Given the description of an element on the screen output the (x, y) to click on. 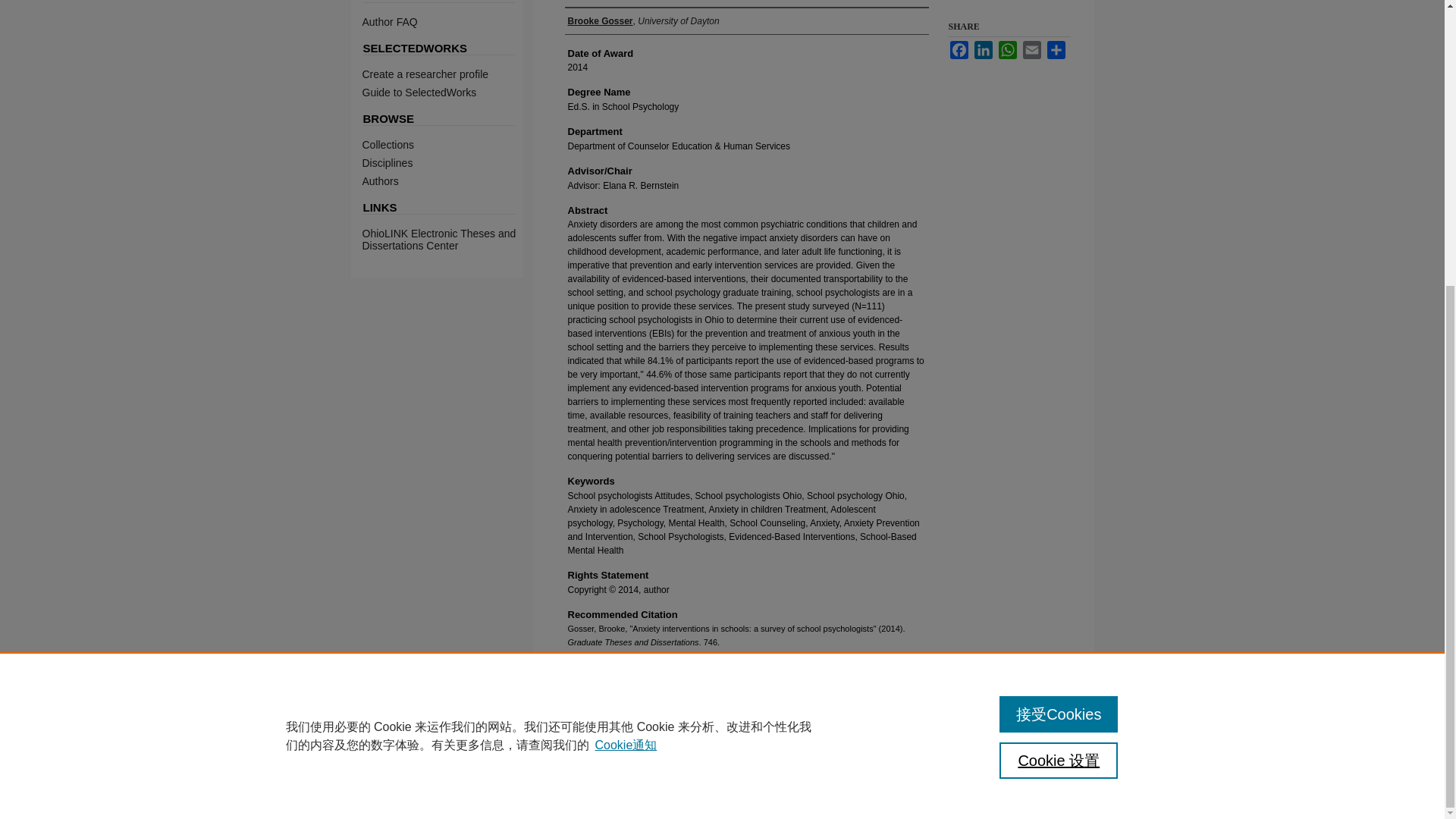
Create a researcher profile (447, 73)
LinkedIn (982, 49)
WhatsApp (1006, 49)
Disciplines (447, 162)
Collections (447, 144)
Author FAQ (447, 21)
Create a researcher profile (447, 73)
Email (1031, 49)
Guide to SelectedWorks (447, 92)
Brooke Gosser, University of Dayton (643, 20)
Facebook (958, 49)
Author FAQ (447, 21)
